Given the description of an element on the screen output the (x, y) to click on. 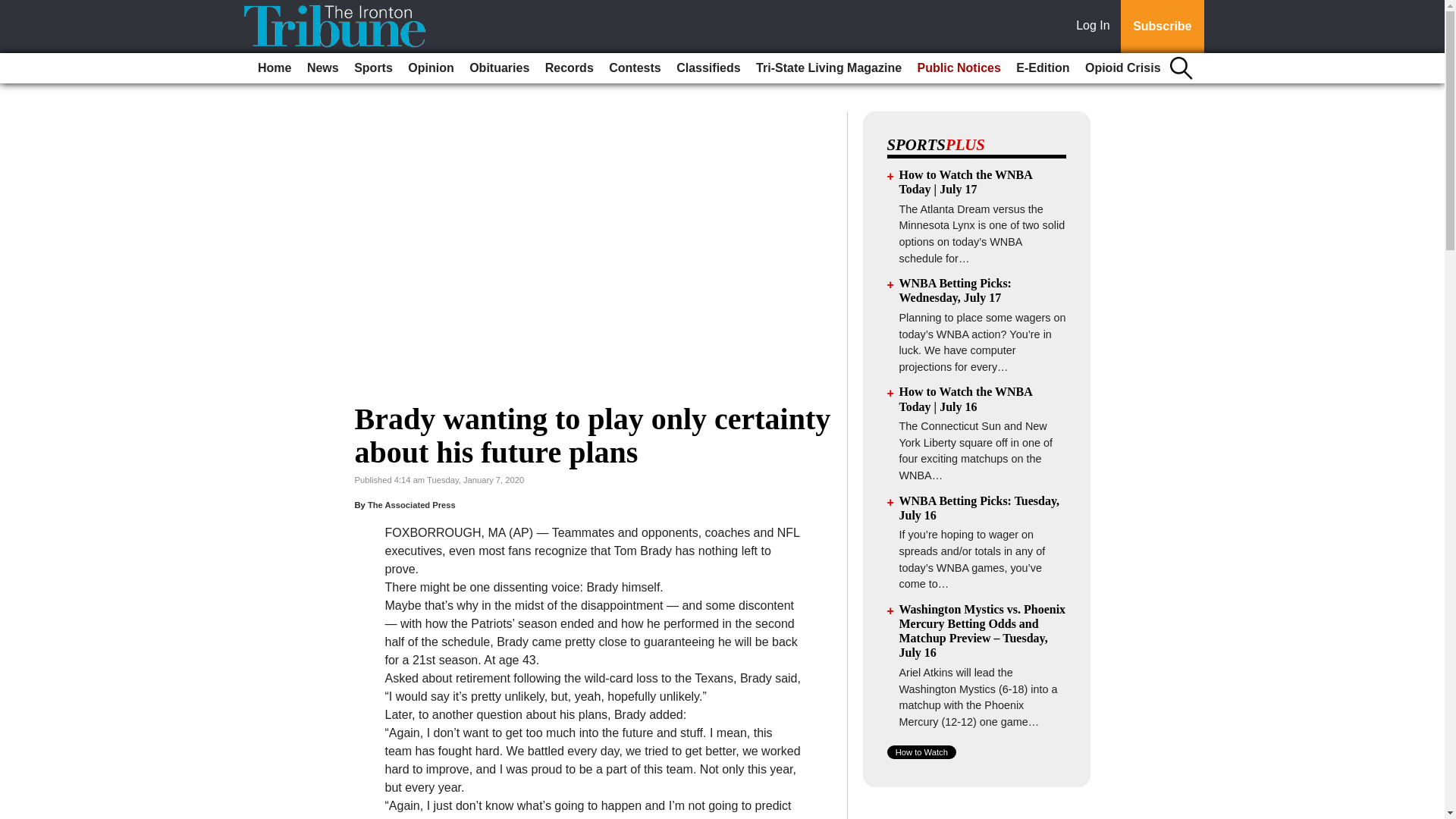
Subscribe (1162, 26)
Obituaries (499, 68)
Log In (1095, 26)
Classifieds (707, 68)
Tri-State Living Magazine (828, 68)
Contests (634, 68)
Records (568, 68)
Opinion (430, 68)
Opioid Crisis (1122, 68)
E-Edition (1042, 68)
Sports (372, 68)
How to Watch (921, 752)
WNBA Betting Picks: Tuesday, July 16 (979, 507)
News (323, 68)
Home (274, 68)
